Given the description of an element on the screen output the (x, y) to click on. 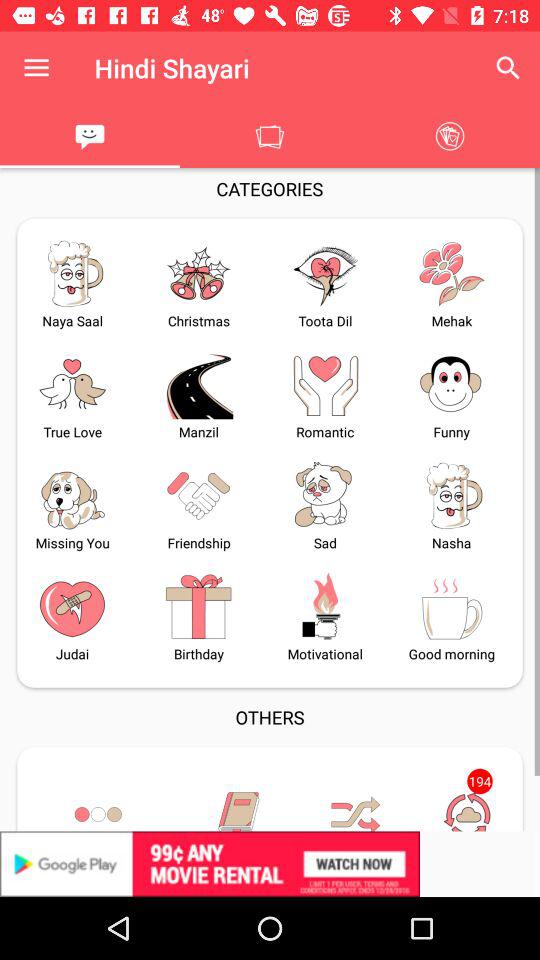
advertisement link banner (270, 864)
